Given the description of an element on the screen output the (x, y) to click on. 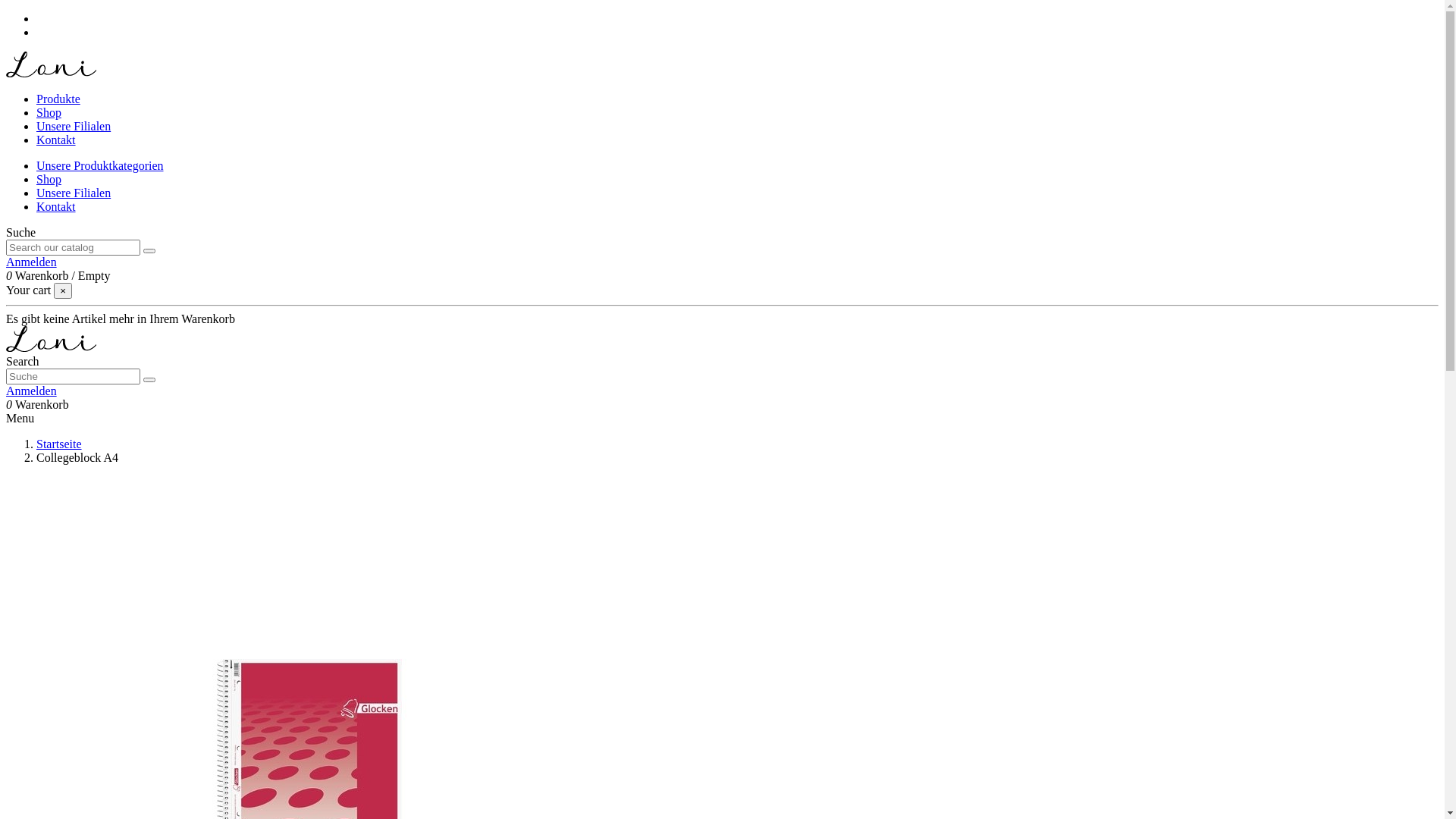
Kontakt Element type: text (55, 206)
0 Warenkorb Element type: text (37, 404)
Unsere Filialen Element type: text (73, 125)
Unsere Produktkategorien Element type: text (99, 165)
Startseite Element type: text (58, 443)
Anmelden Element type: text (31, 261)
Suche Element type: text (20, 231)
Shop Element type: text (48, 178)
Unsere Filialen Element type: text (73, 192)
Produkte Element type: text (58, 98)
Shop Element type: text (48, 112)
0 Warenkorb / Empty Element type: text (58, 275)
Search Element type: text (22, 360)
Anmelden Element type: text (31, 390)
Menu Element type: text (20, 417)
Kontakt Element type: text (55, 139)
